Given the description of an element on the screen output the (x, y) to click on. 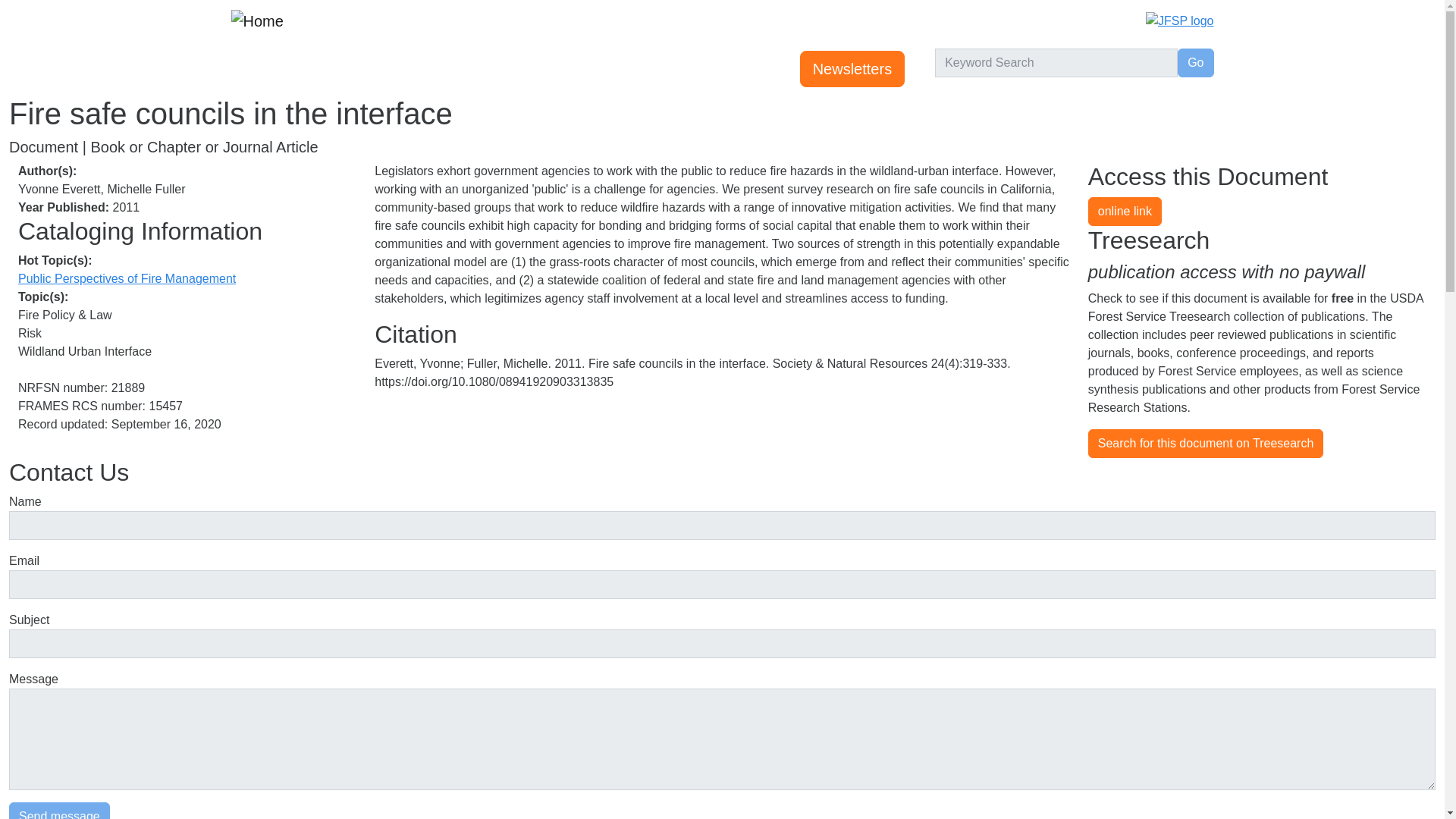
Events (304, 69)
Home (252, 69)
Our Products (585, 69)
Home (262, 20)
Hot Topics (501, 69)
About Us (668, 69)
Research Database (398, 69)
